Given the description of an element on the screen output the (x, y) to click on. 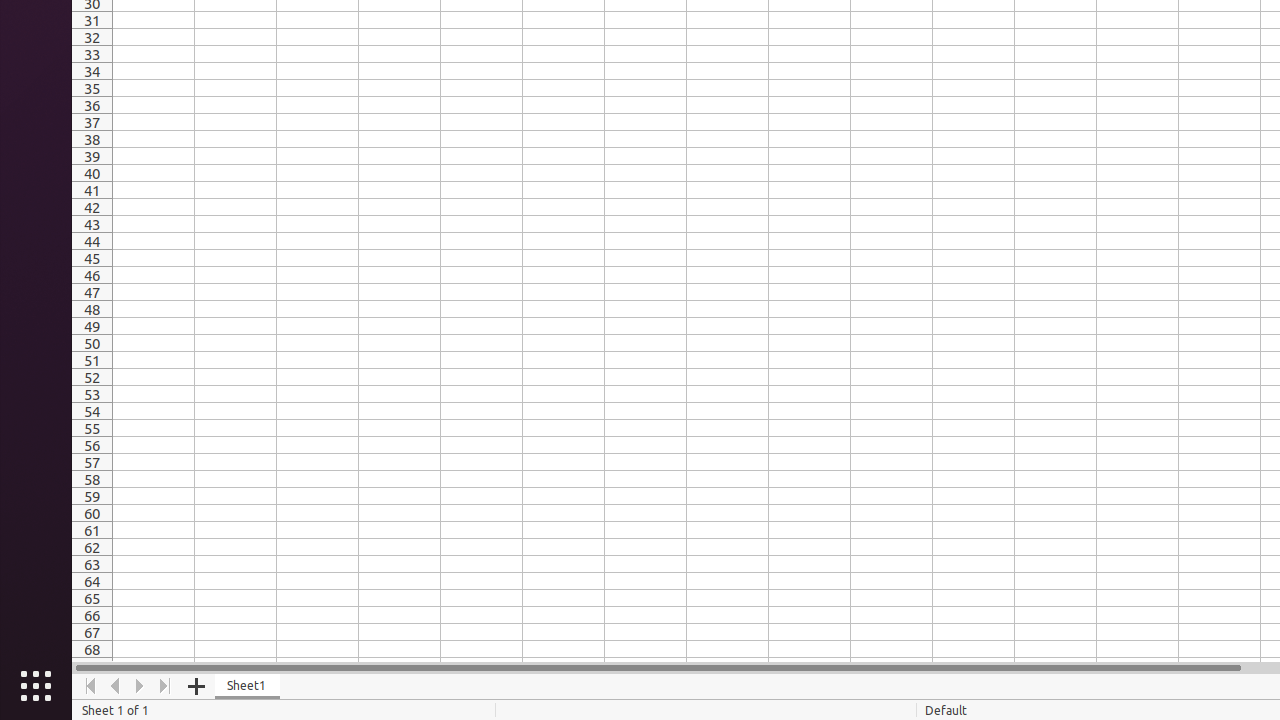
Move To Home Element type: push-button (90, 686)
